Given the description of an element on the screen output the (x, y) to click on. 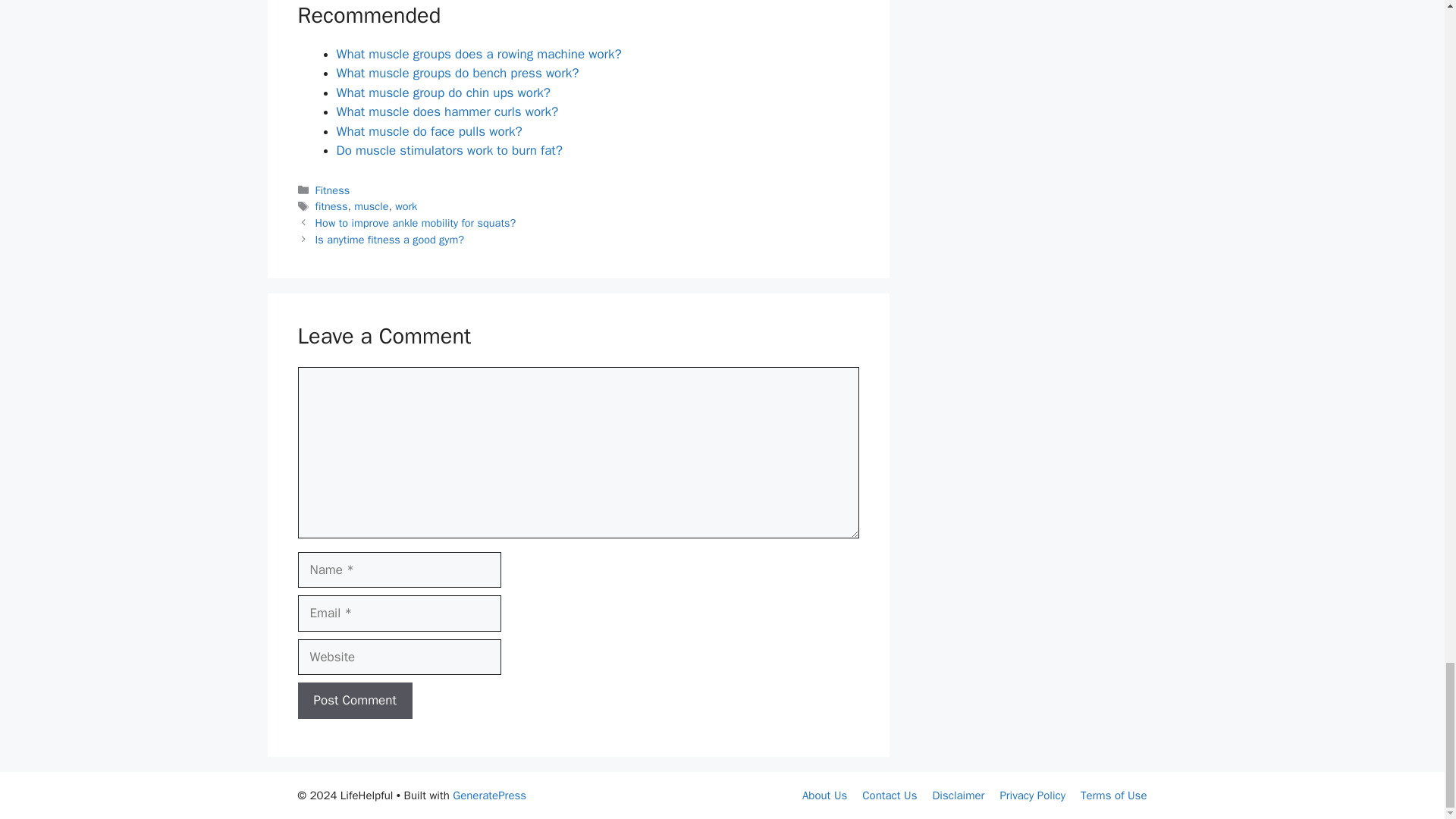
Post Comment (354, 700)
What muscle groups does a rowing machine work? (478, 53)
